Given the description of an element on the screen output the (x, y) to click on. 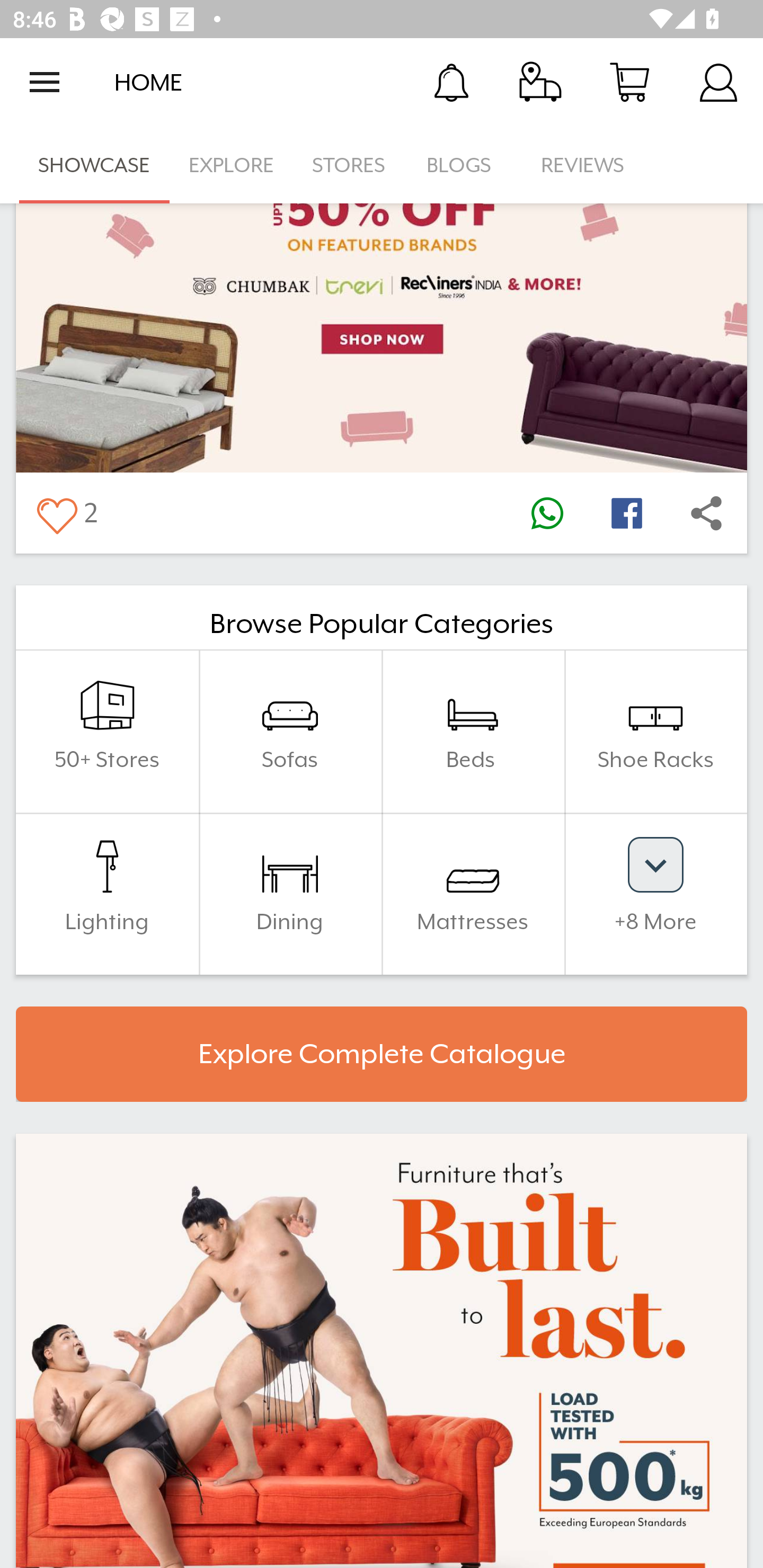
Open navigation drawer (44, 82)
Notification (450, 81)
Track Order (540, 81)
Cart (629, 81)
Account Details (718, 81)
SHOWCASE (94, 165)
EXPLORE (230, 165)
STORES (349, 165)
BLOGS (464, 165)
REVIEWS (582, 165)
 (55, 512)
 (547, 512)
 (626, 512)
 (706, 512)
50+ Stores (106, 731)
Sofas (289, 731)
Beds  (473, 731)
Shoe Racks (655, 731)
Lighting (106, 893)
Dining (289, 893)
Mattresses (473, 893)
 +8 More (655, 893)
Explore Complete Catalogue (381, 1054)
